Given the description of an element on the screen output the (x, y) to click on. 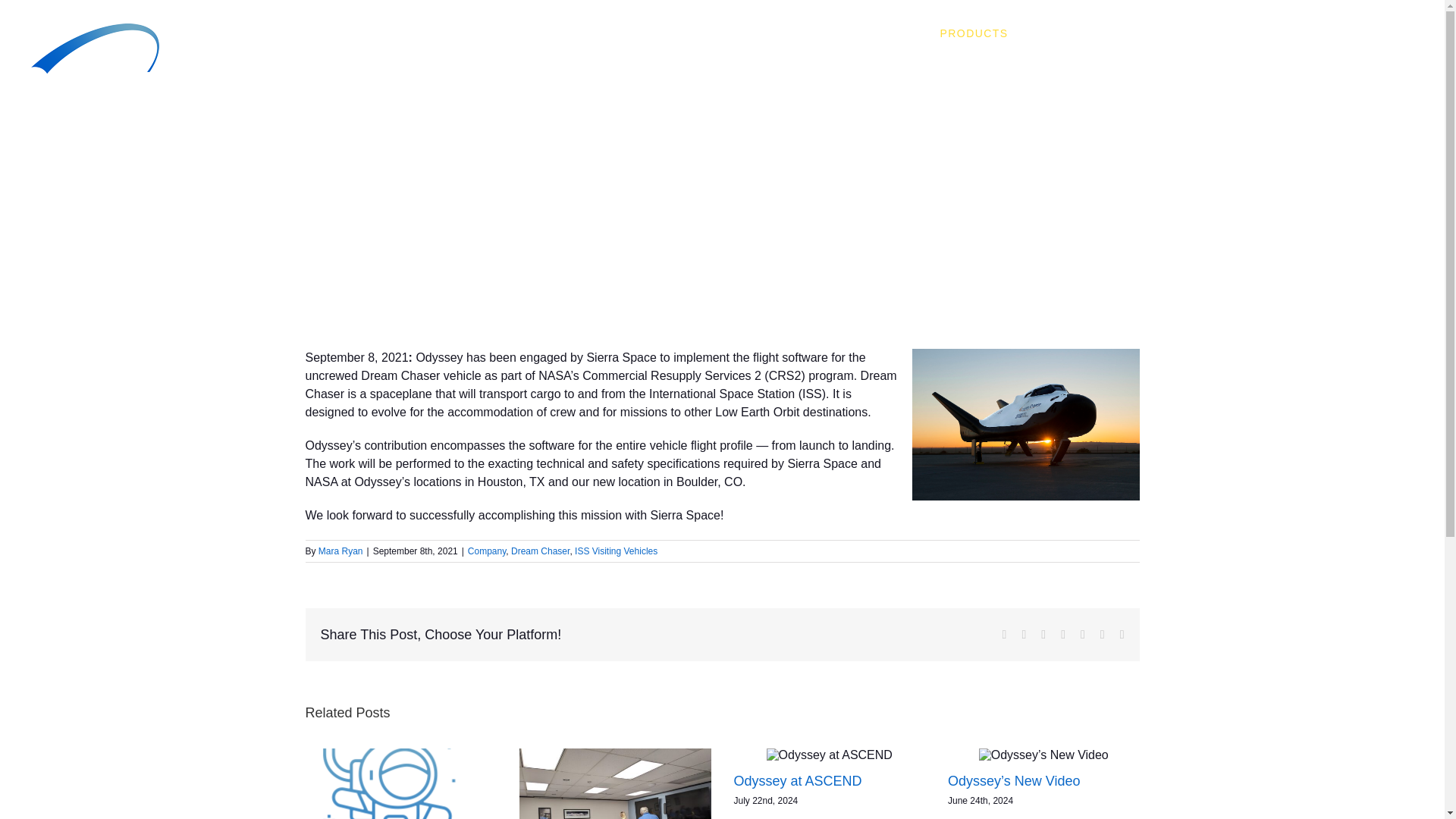
Odyssey at ASCEND (797, 780)
Mara Ryan (340, 551)
PROJECTS (881, 31)
Dream Chaser (540, 551)
CAREERS (1153, 31)
CONTACT US (1357, 31)
UPDATES (1236, 31)
PRODUCTS (974, 31)
Company (486, 551)
ABOUT US (1065, 31)
